Given the description of an element on the screen output the (x, y) to click on. 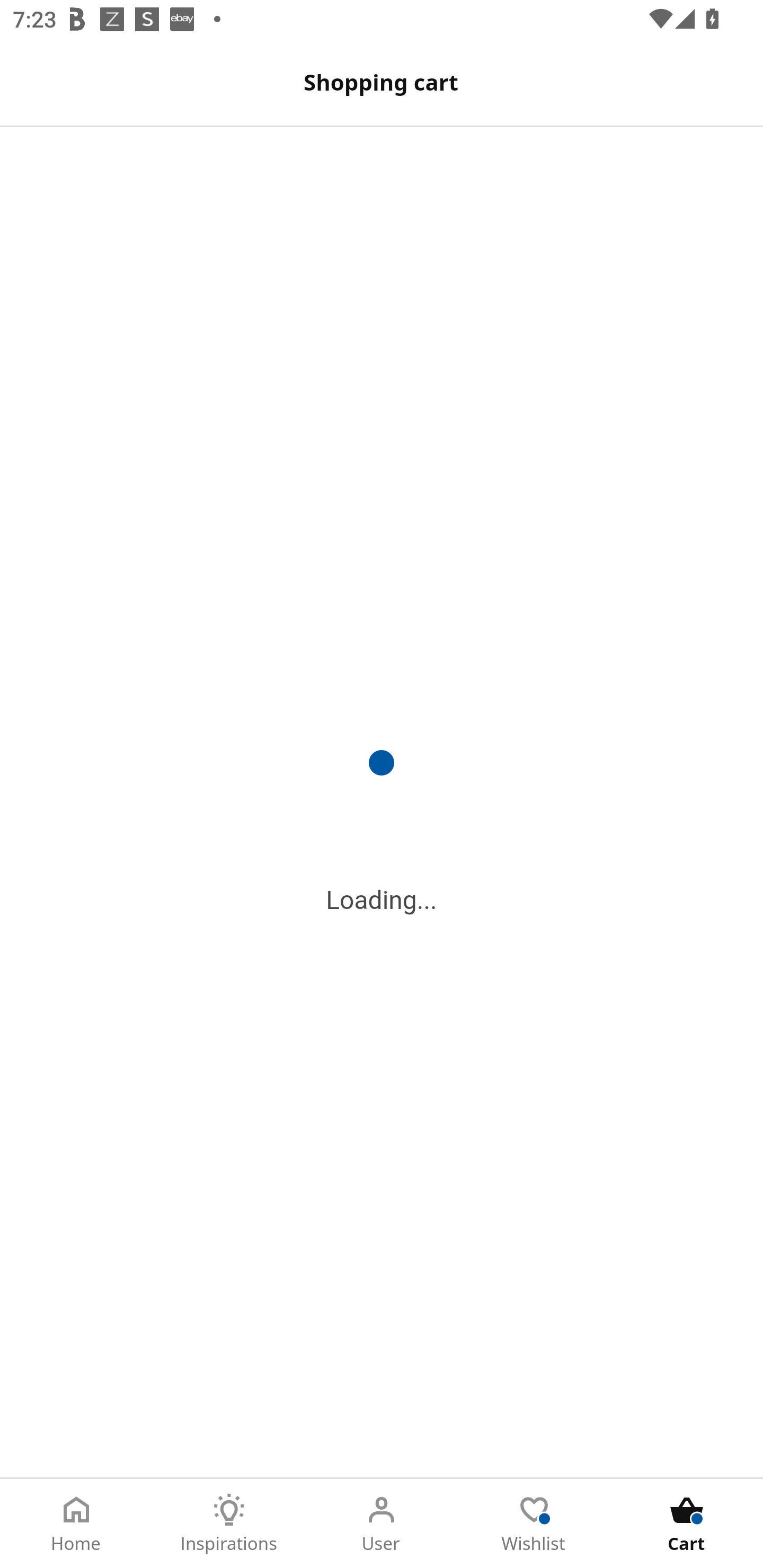
Home
Tab 1 of 5 (76, 1522)
Inspirations
Tab 2 of 5 (228, 1522)
User
Tab 3 of 5 (381, 1522)
Wishlist
Tab 4 of 5 (533, 1522)
Cart
Tab 5 of 5 (686, 1522)
